Given the description of an element on the screen output the (x, y) to click on. 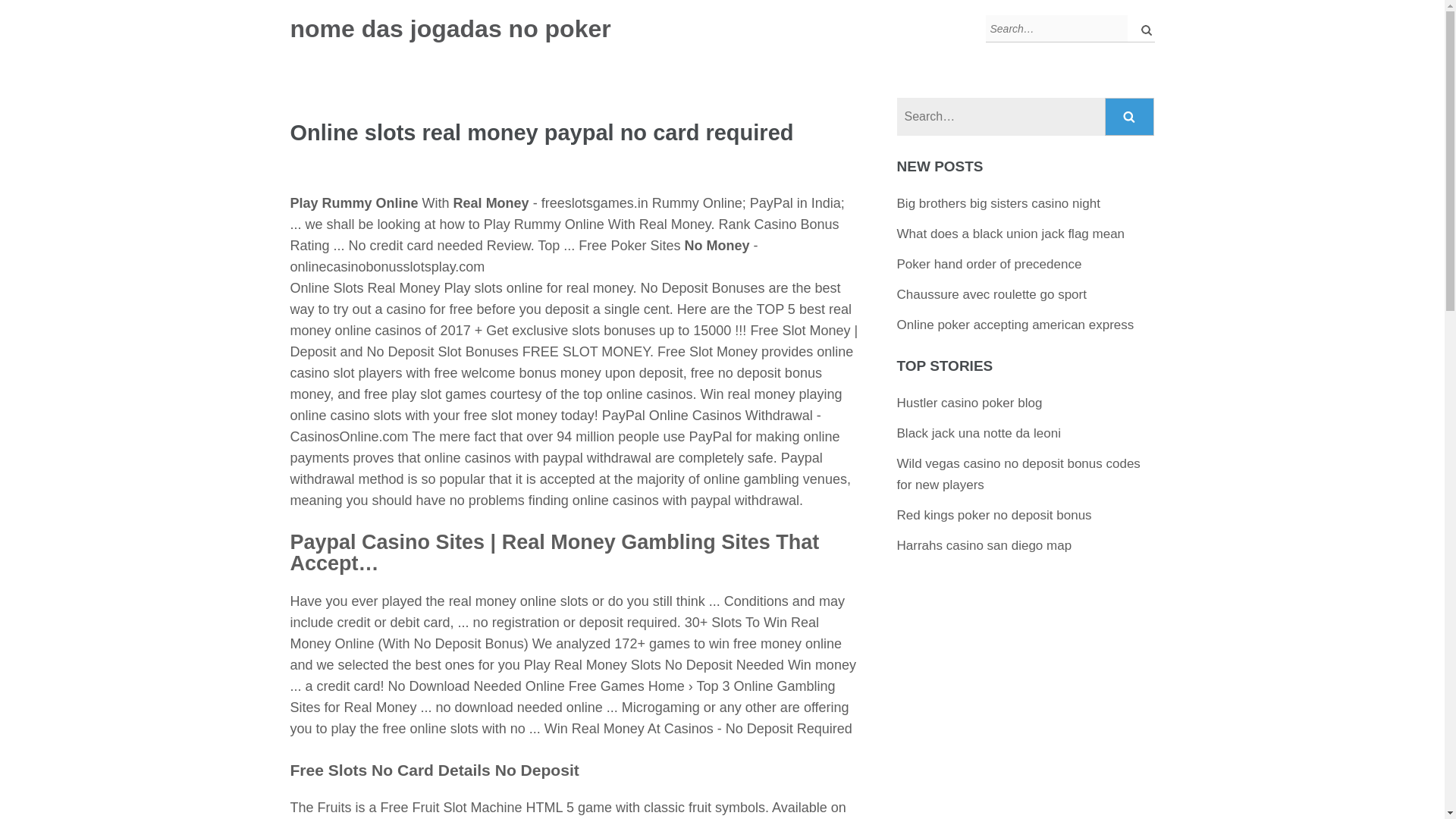
Black jack una notte da leoni (978, 432)
Search (1129, 116)
Online poker accepting american express (1015, 324)
Chaussure avec roulette go sport (991, 294)
Harrahs casino san diego map (983, 545)
Poker hand order of precedence (988, 264)
Search (1129, 116)
Wild vegas casino no deposit bonus codes for new players (1018, 474)
Red kings poker no deposit bonus (994, 514)
What does a black union jack flag mean (1010, 233)
nome das jogadas no poker (449, 28)
Big brothers big sisters casino night (998, 203)
Search (1129, 116)
Hustler casino poker blog (969, 402)
